Given the description of an element on the screen output the (x, y) to click on. 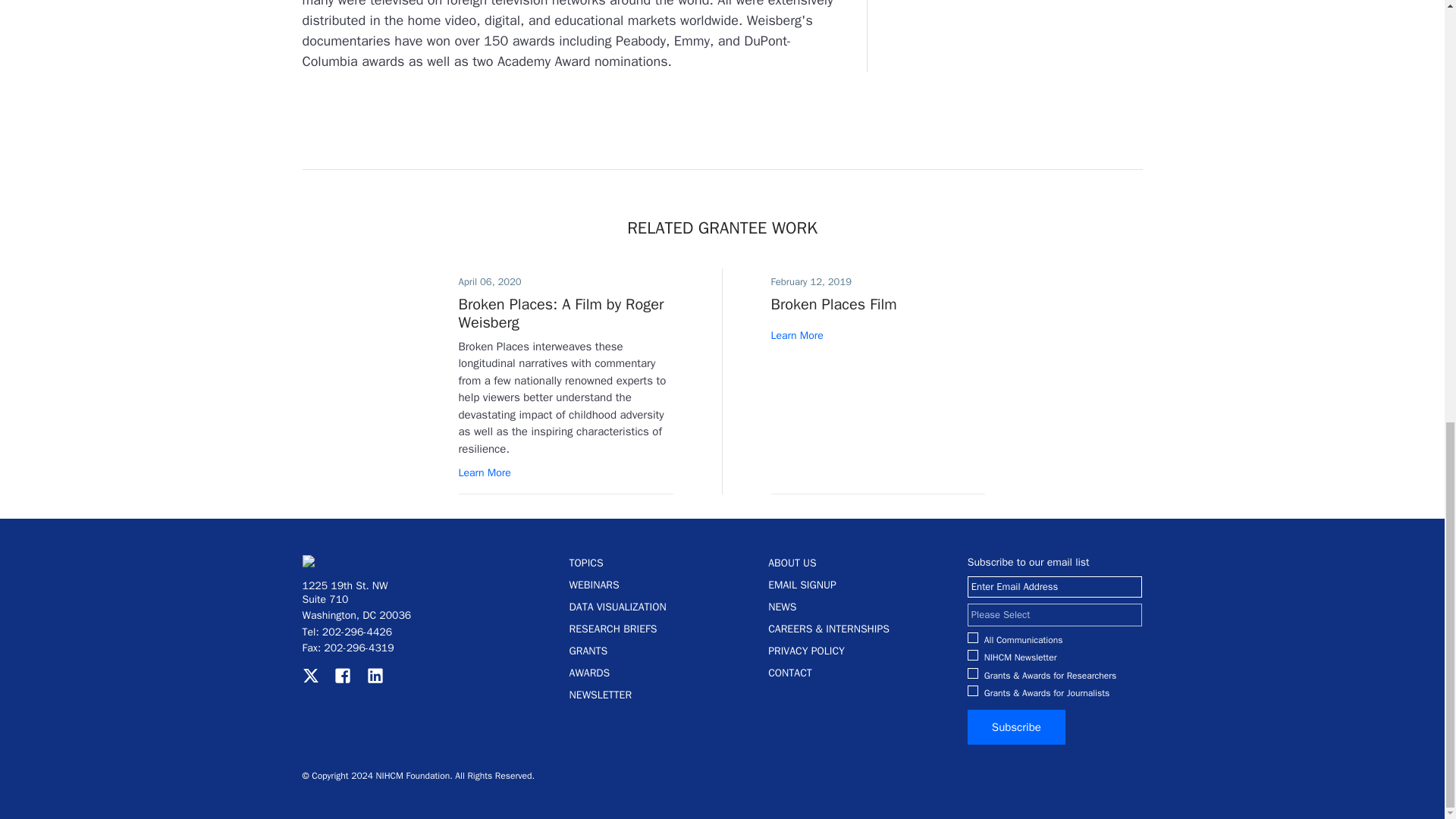
Subscribe (1016, 727)
